Given the description of an element on the screen output the (x, y) to click on. 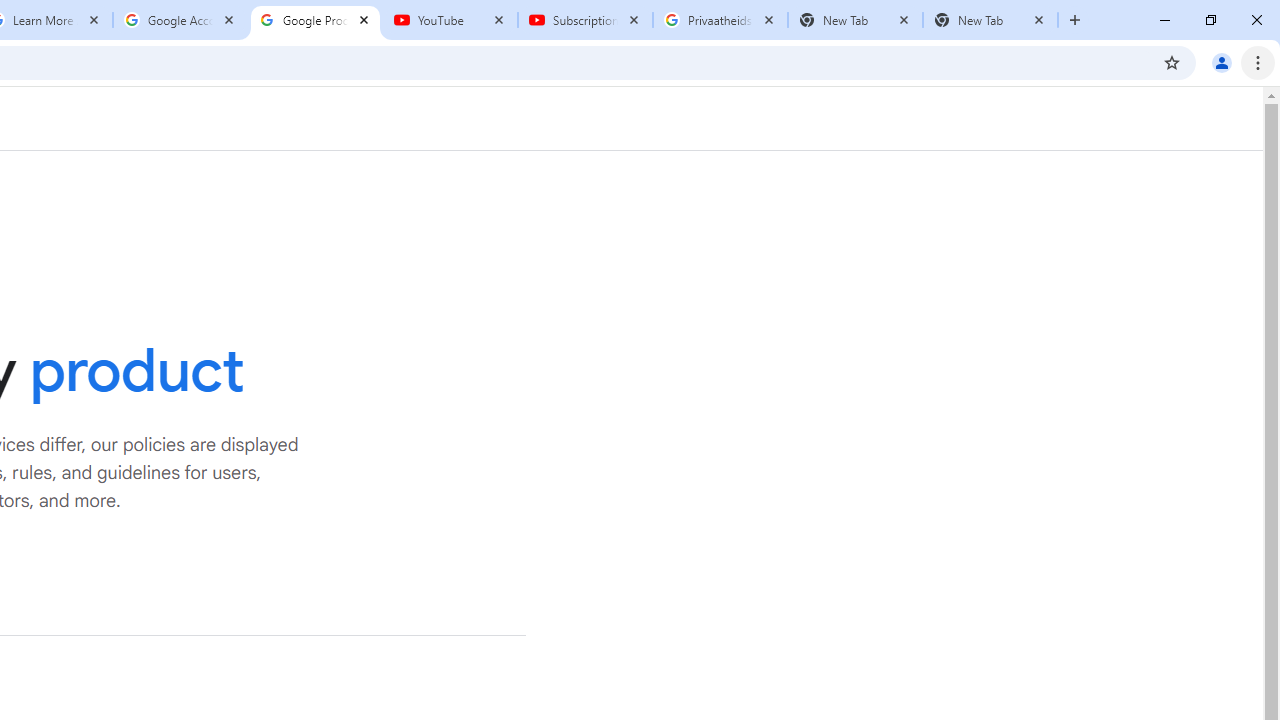
YouTube (450, 20)
New Tab (990, 20)
Subscriptions - YouTube (585, 20)
Google Account (180, 20)
